Given the description of an element on the screen output the (x, y) to click on. 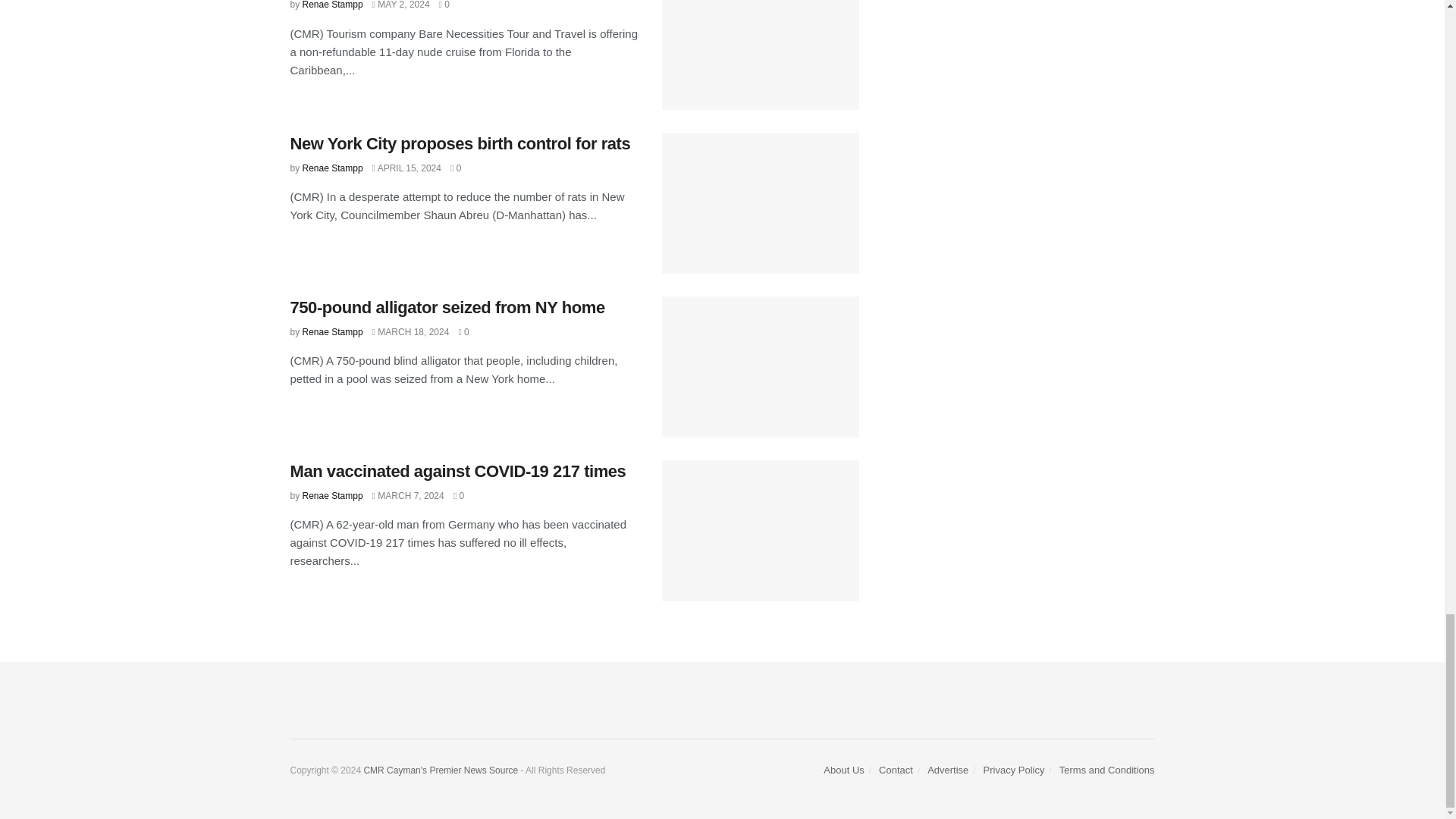
Cayman's Premier News Source (373, 769)
CMR (451, 769)
